Given the description of an element on the screen output the (x, y) to click on. 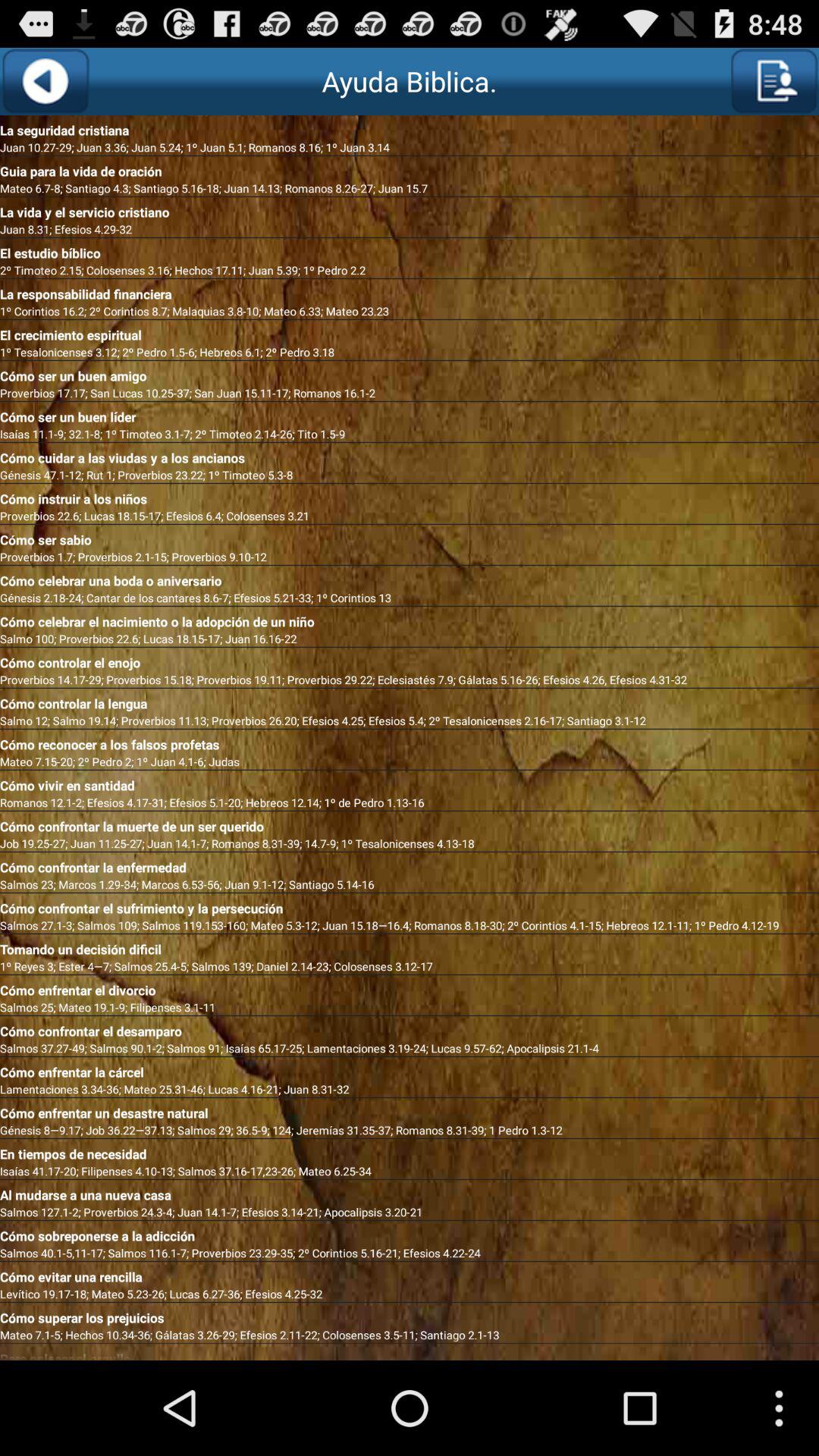
select the icon above mateo 7 15 icon (409, 741)
